Given the description of an element on the screen output the (x, y) to click on. 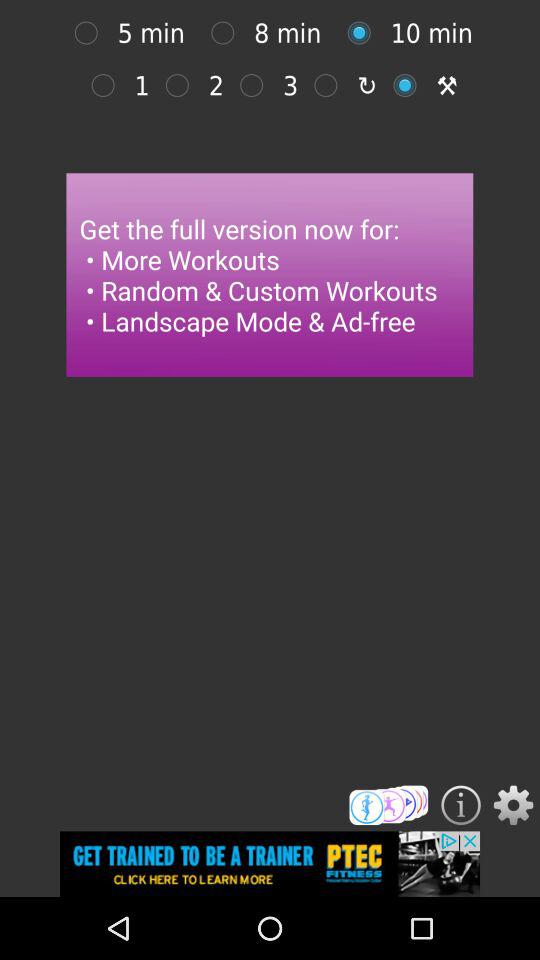
option (91, 32)
